Given the description of an element on the screen output the (x, y) to click on. 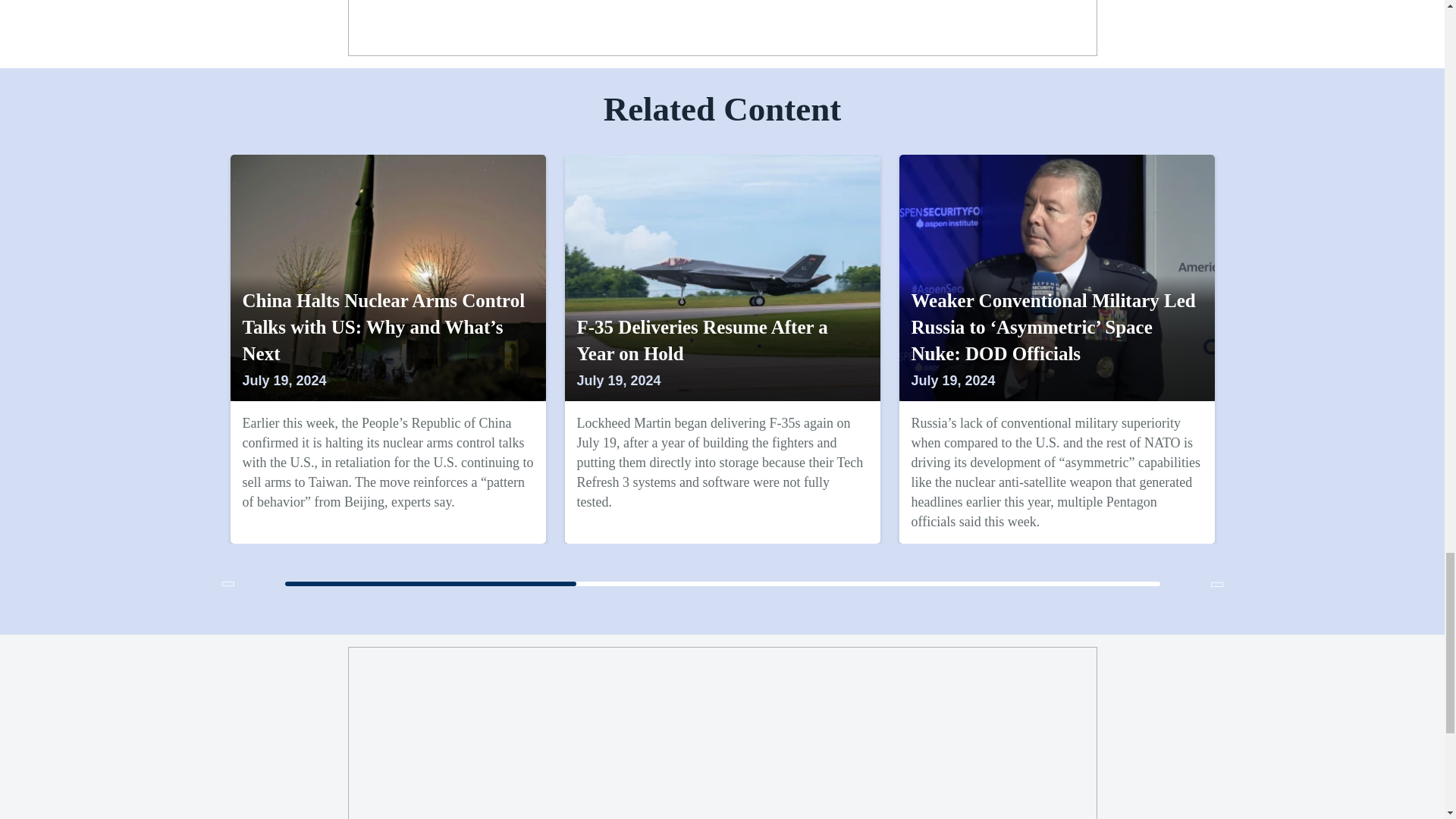
3rd party ad content (722, 24)
